Given the description of an element on the screen output the (x, y) to click on. 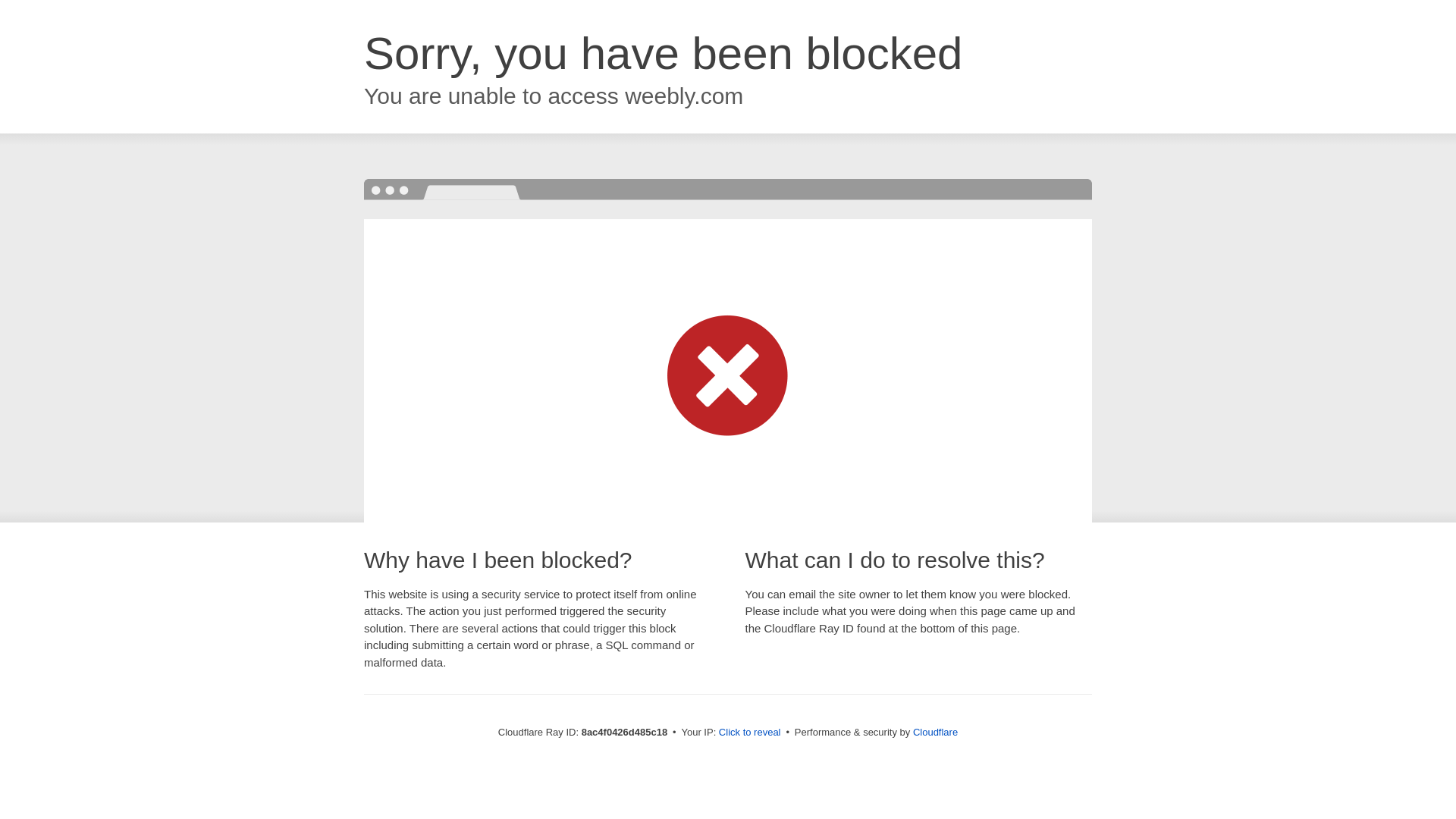
Click to reveal (749, 732)
Cloudflare (935, 731)
